Given the description of an element on the screen output the (x, y) to click on. 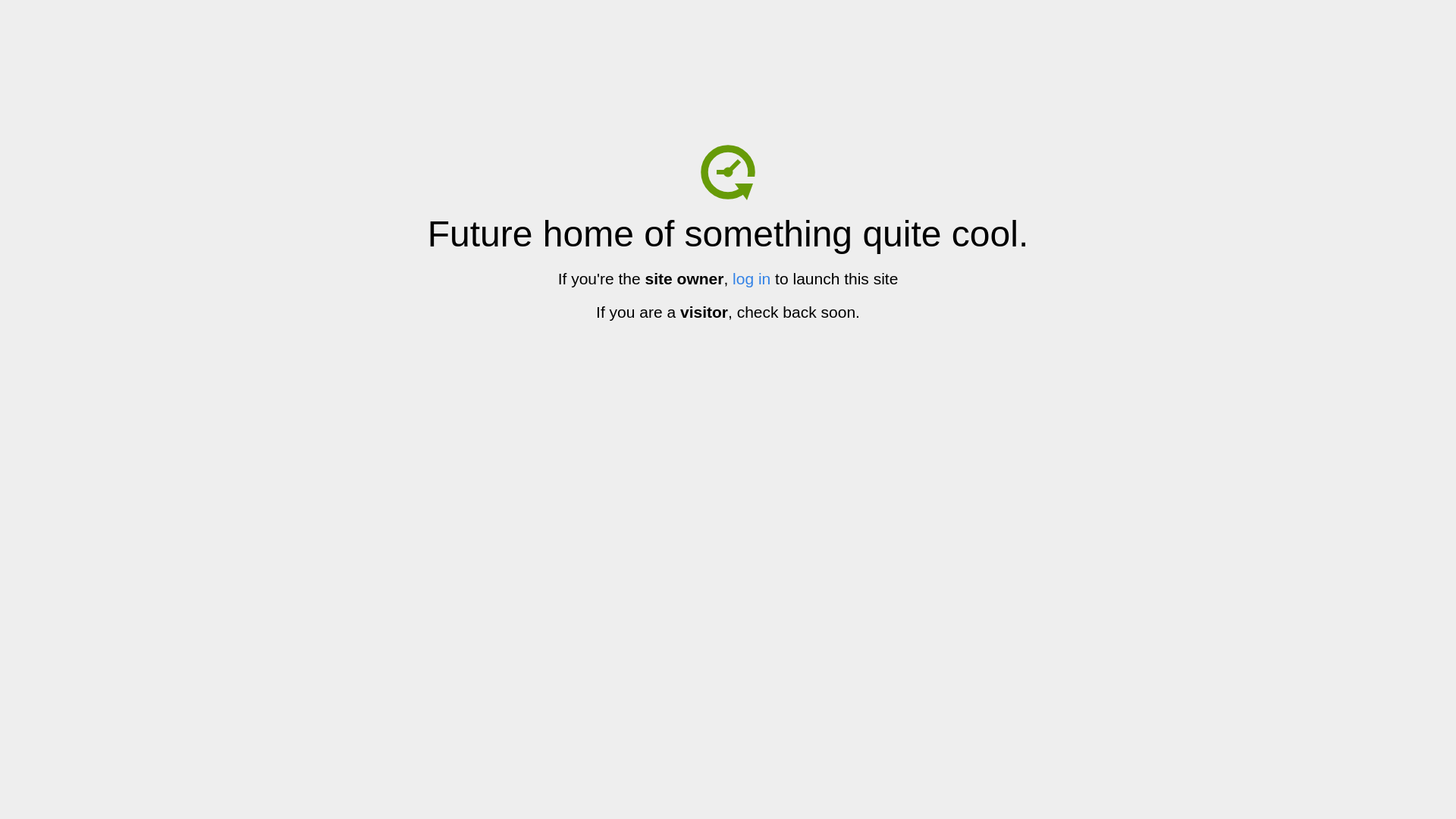
log in Element type: text (751, 278)
